Given the description of an element on the screen output the (x, y) to click on. 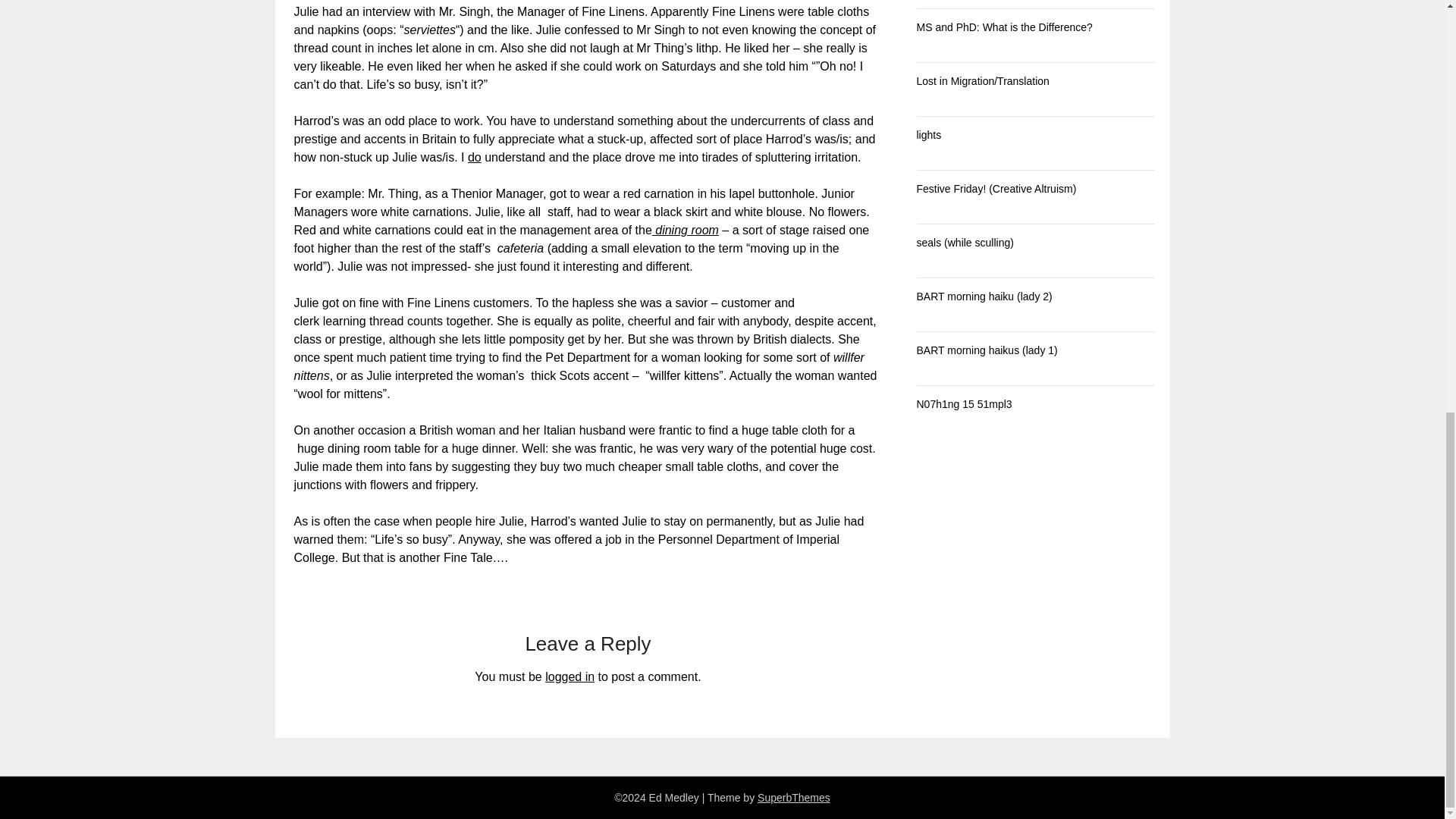
MS and PhD: What is the Difference? (1003, 27)
Permalink to lights (927, 134)
logged in (569, 676)
N07h1ng 15 51mpl3 (963, 404)
SuperbThemes (793, 797)
lights (927, 134)
Permalink to N07h1ng 15 51mpl3 (963, 404)
Permalink to MS and PhD: What is the Difference? (1003, 27)
